Given the description of an element on the screen output the (x, y) to click on. 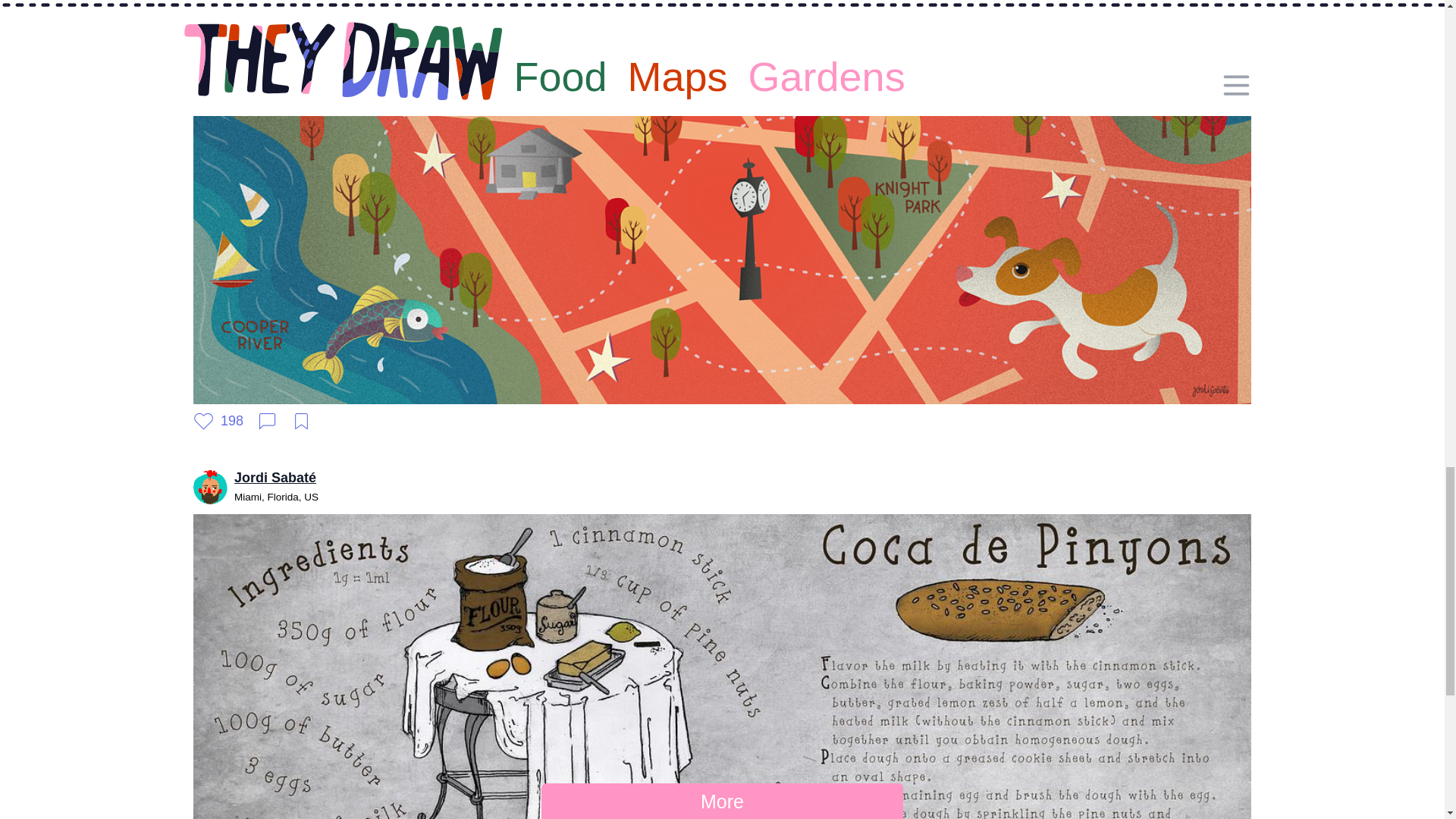
198 (218, 421)
Add to Favorites (301, 421)
Give Heart (218, 421)
